Given the description of an element on the screen output the (x, y) to click on. 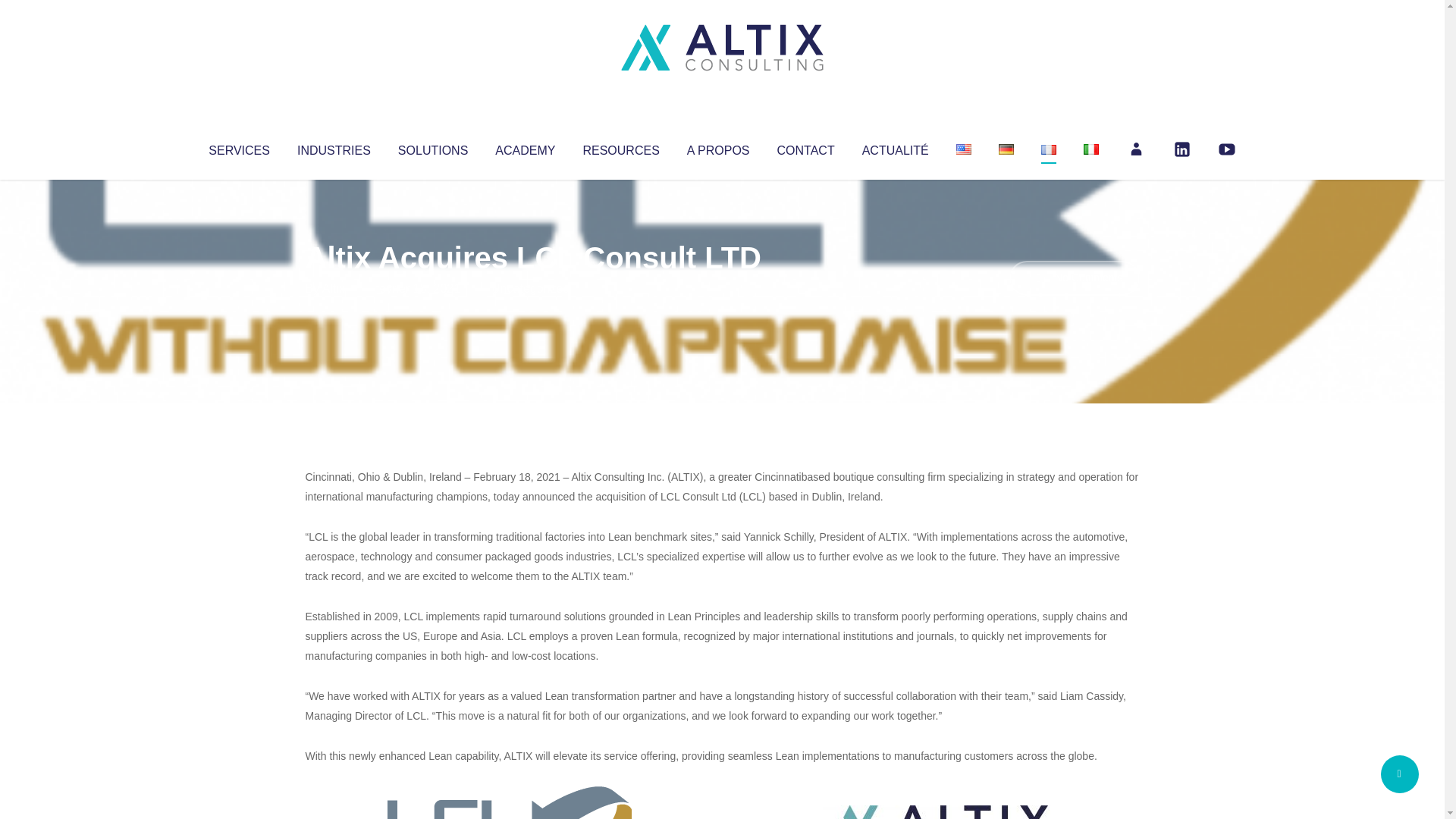
INDUSTRIES (334, 146)
RESOURCES (620, 146)
No Comments (1073, 278)
Altix (333, 287)
SERVICES (238, 146)
A PROPOS (718, 146)
Articles par Altix (333, 287)
ACADEMY (524, 146)
Uncategorized (530, 287)
SOLUTIONS (432, 146)
